Given the description of an element on the screen output the (x, y) to click on. 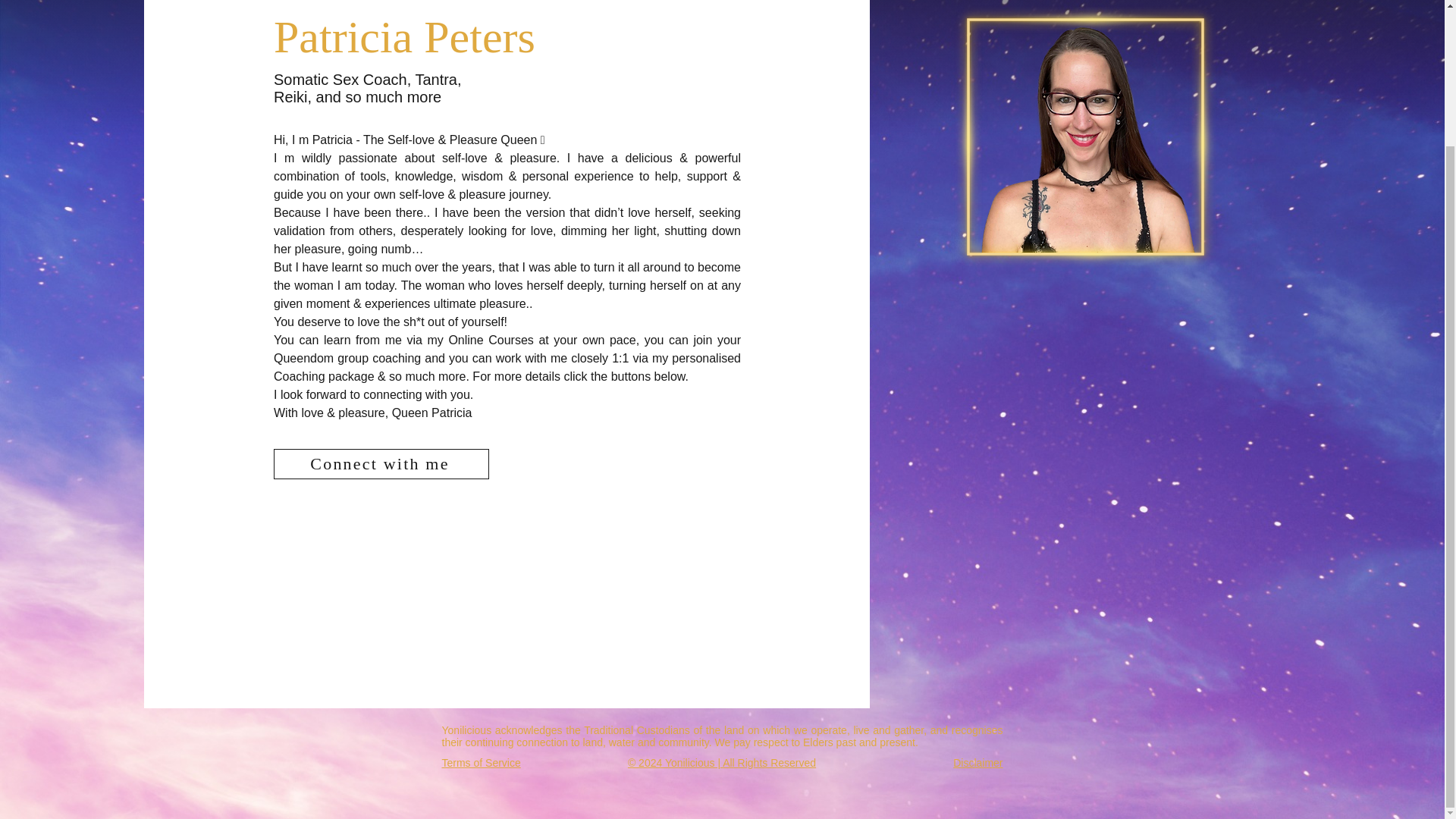
Connect with me (381, 463)
Disclaimer (978, 762)
Terms of Service (480, 762)
Patricia Peters.5x.png (1085, 139)
